Given the description of an element on the screen output the (x, y) to click on. 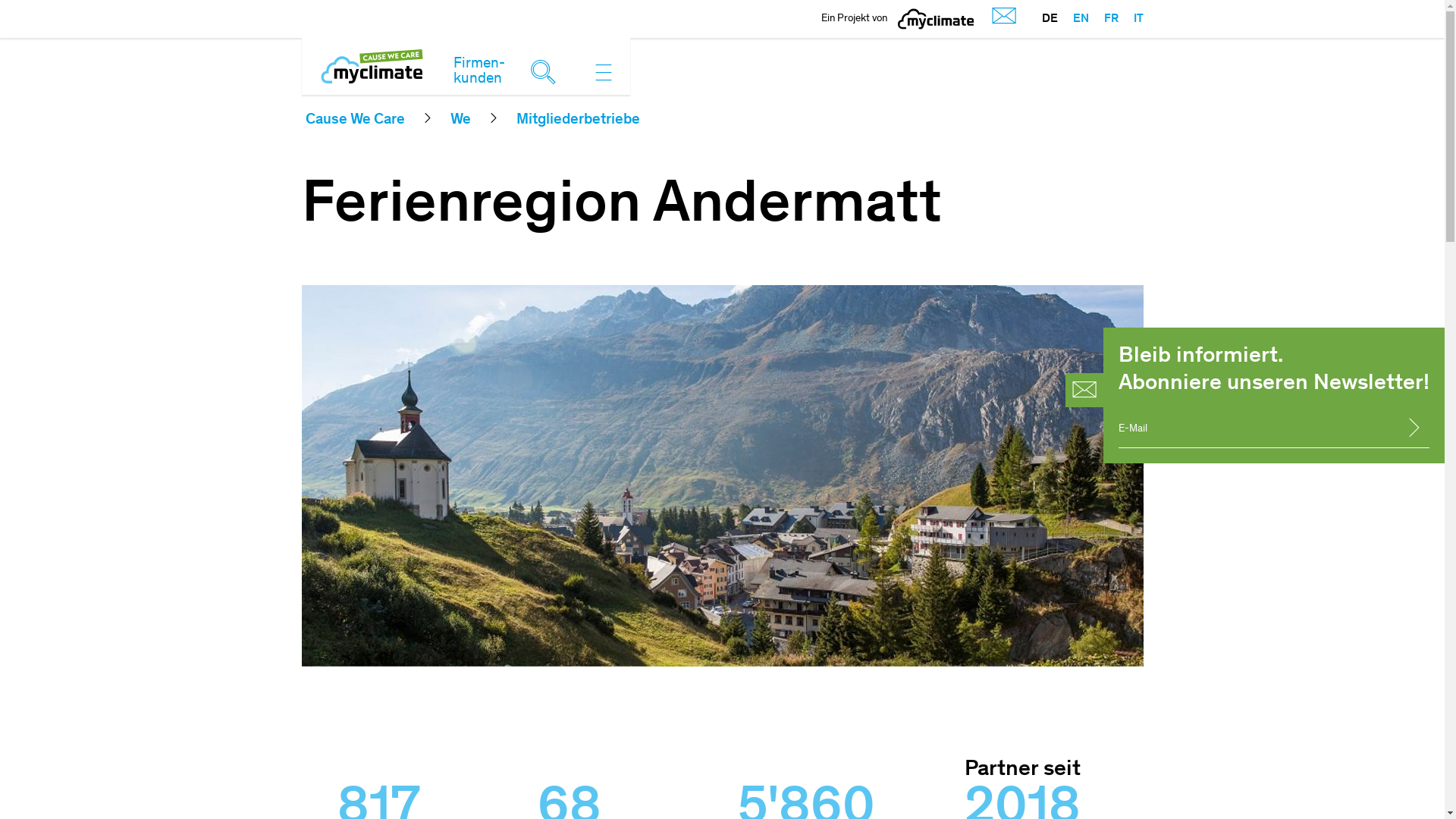
FR Element type: text (1103, 18)
IT Element type: text (1129, 18)
DE Element type: text (1049, 18)
Firmen-
kunden Element type: text (478, 71)
Cause We Care Element type: text (354, 120)
We Element type: text (460, 120)
EN Element type: text (1072, 18)
myclimate Element type: hover (935, 18)
Suche Element type: hover (546, 69)
myclimate Element type: hover (935, 18)
Kontakt Element type: text (999, 18)
Mitgliederbetriebe Element type: text (577, 120)
